Given the description of an element on the screen output the (x, y) to click on. 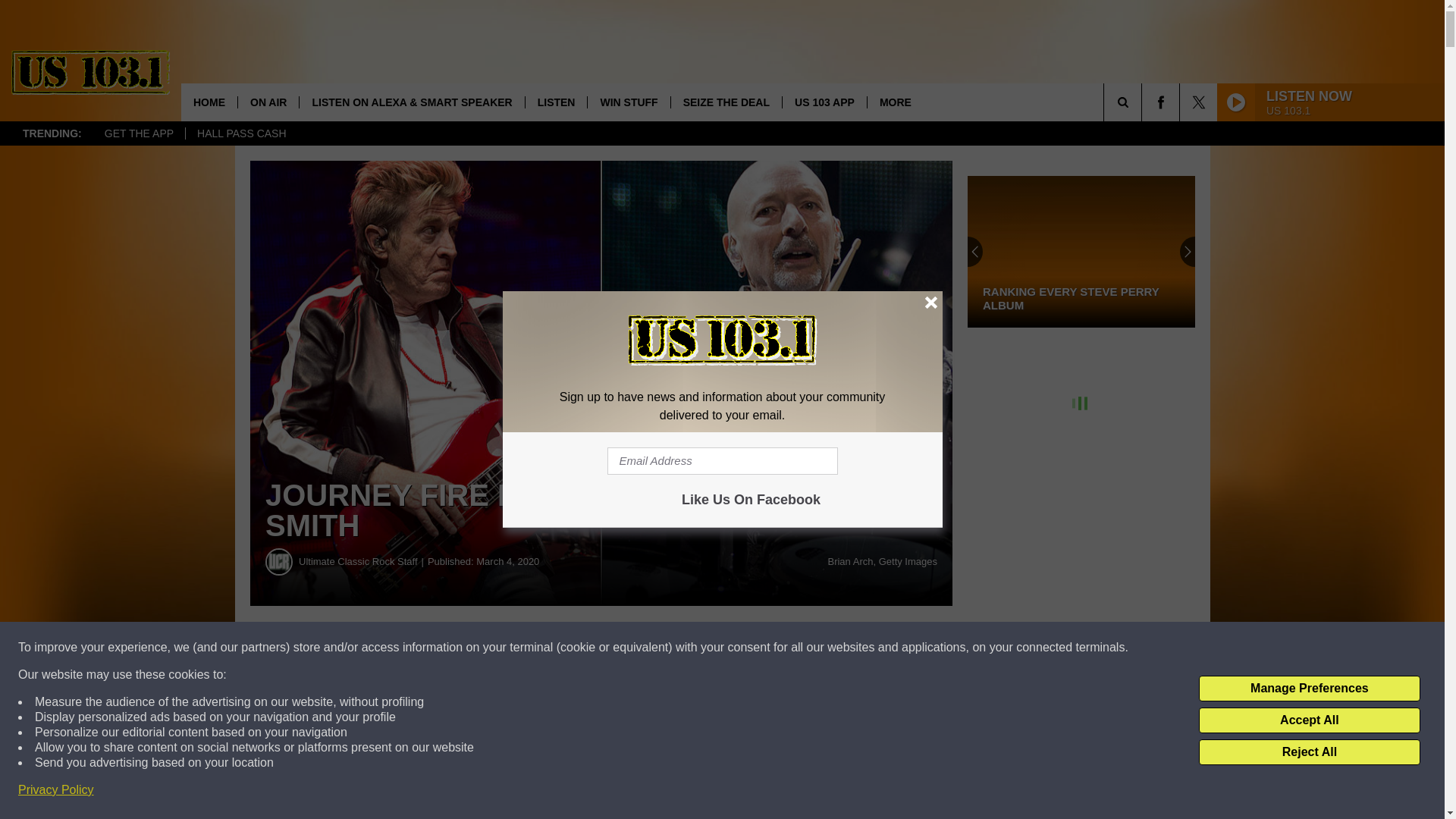
SEIZE THE DEAL (725, 102)
Share on Twitter (741, 647)
LISTEN (556, 102)
Privacy Policy (55, 789)
TRENDING: (52, 133)
MORE (894, 102)
Email Address (722, 461)
Share on Facebook (460, 647)
GET THE APP (138, 133)
HALL PASS CASH (241, 133)
SEARCH (1144, 102)
Manage Preferences (1309, 688)
WIN STUFF (627, 102)
HOME (208, 102)
Reject All (1309, 751)
